Given the description of an element on the screen output the (x, y) to click on. 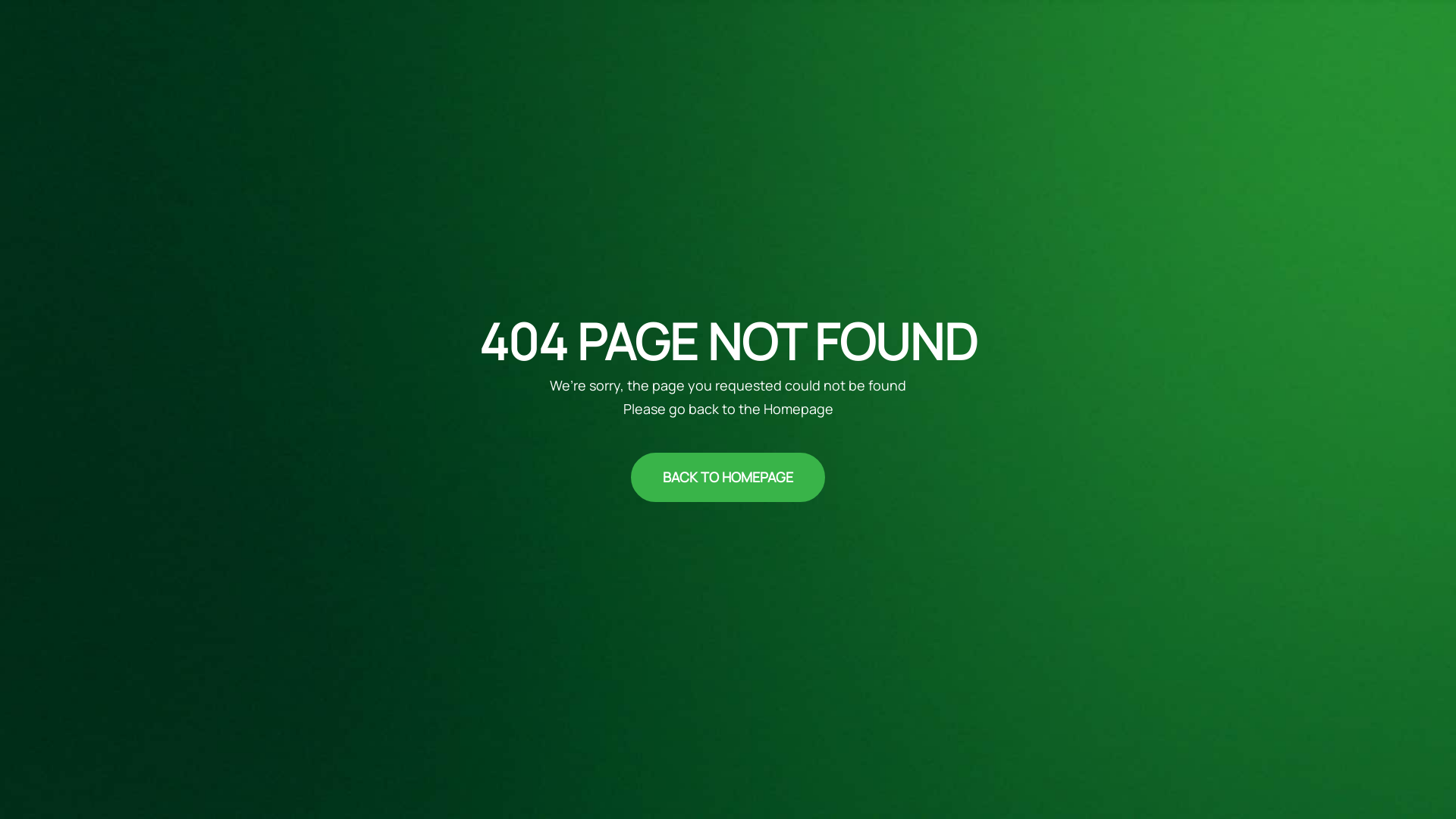
BACK TO HOMEPAGE Element type: text (727, 477)
